Given the description of an element on the screen output the (x, y) to click on. 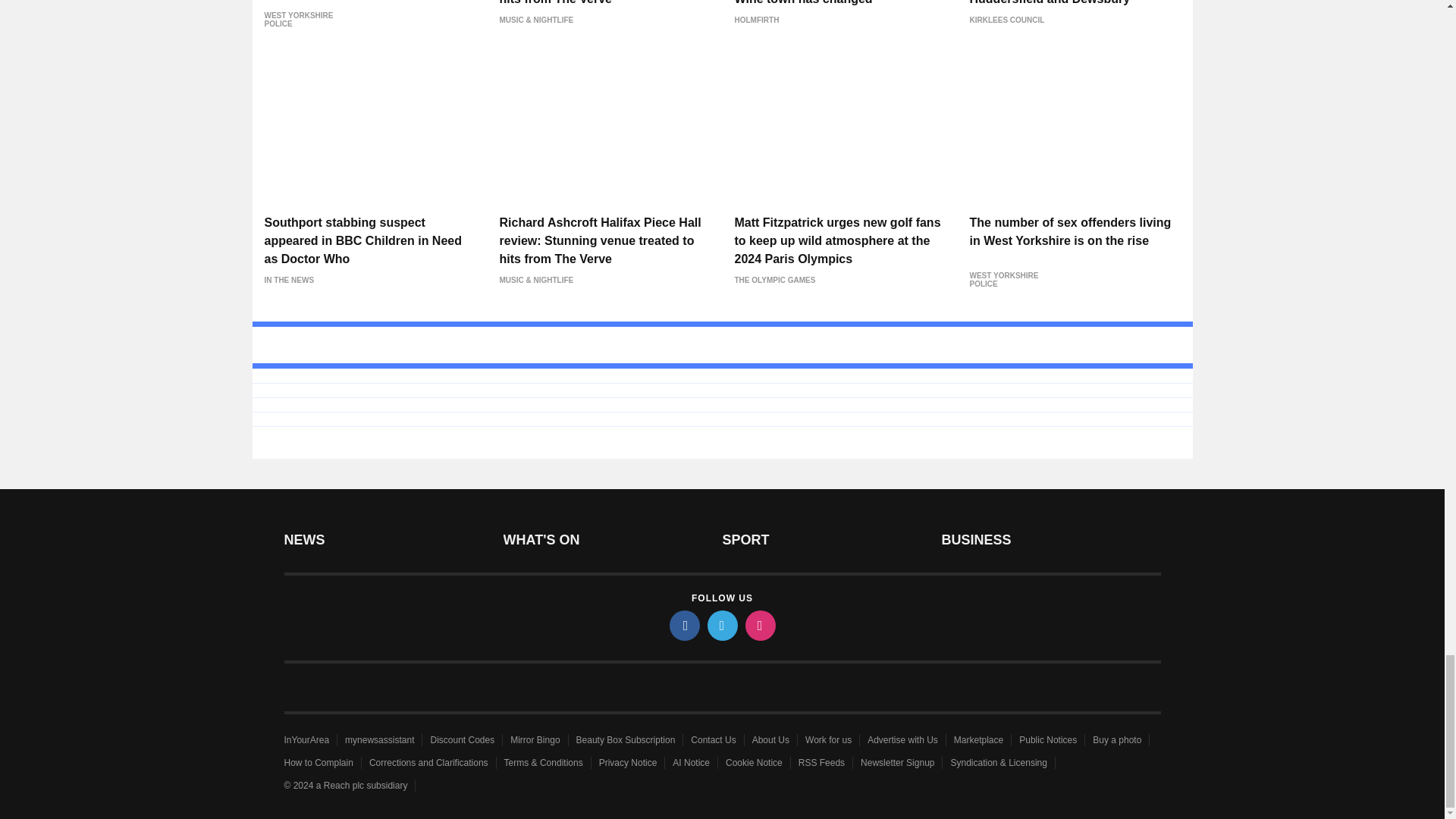
instagram (759, 625)
twitter (721, 625)
facebook (683, 625)
